Given the description of an element on the screen output the (x, y) to click on. 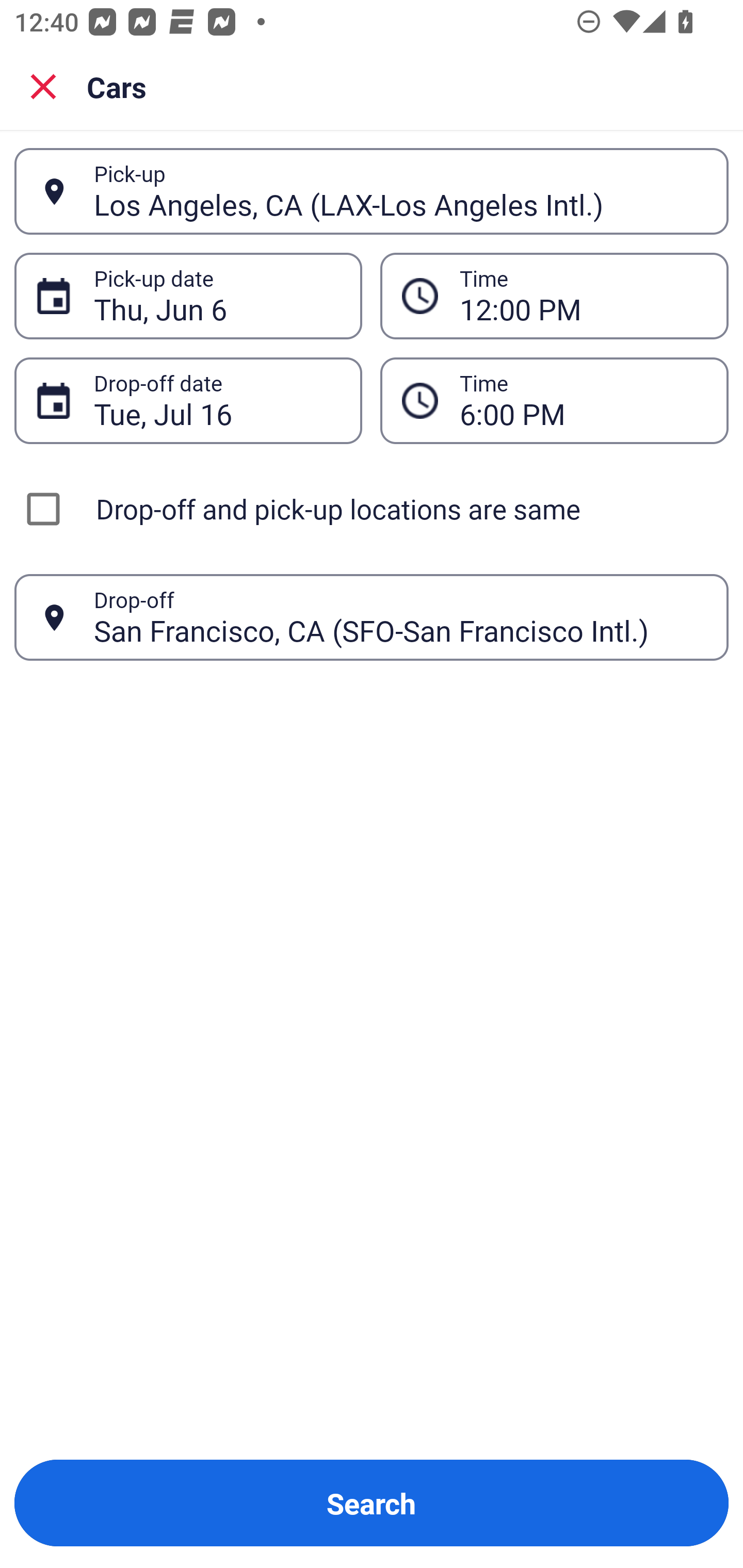
Close search screen (43, 86)
Los Angeles, CA (LAX-Los Angeles Intl.) Pick-up (371, 191)
Los Angeles, CA (LAX-Los Angeles Intl.) (399, 191)
Thu, Jun 6 Pick-up date (188, 295)
12:00 PM (554, 295)
Thu, Jun 6 (216, 296)
12:00 PM (582, 296)
Tue, Jul 16 Drop-off date (188, 400)
6:00 PM (554, 400)
Tue, Jul 16 (216, 400)
6:00 PM (582, 400)
Drop-off and pick-up locations are same (371, 508)
San Francisco, CA (SFO-San Francisco Intl.) (399, 616)
Search Button Search (371, 1502)
